Given the description of an element on the screen output the (x, y) to click on. 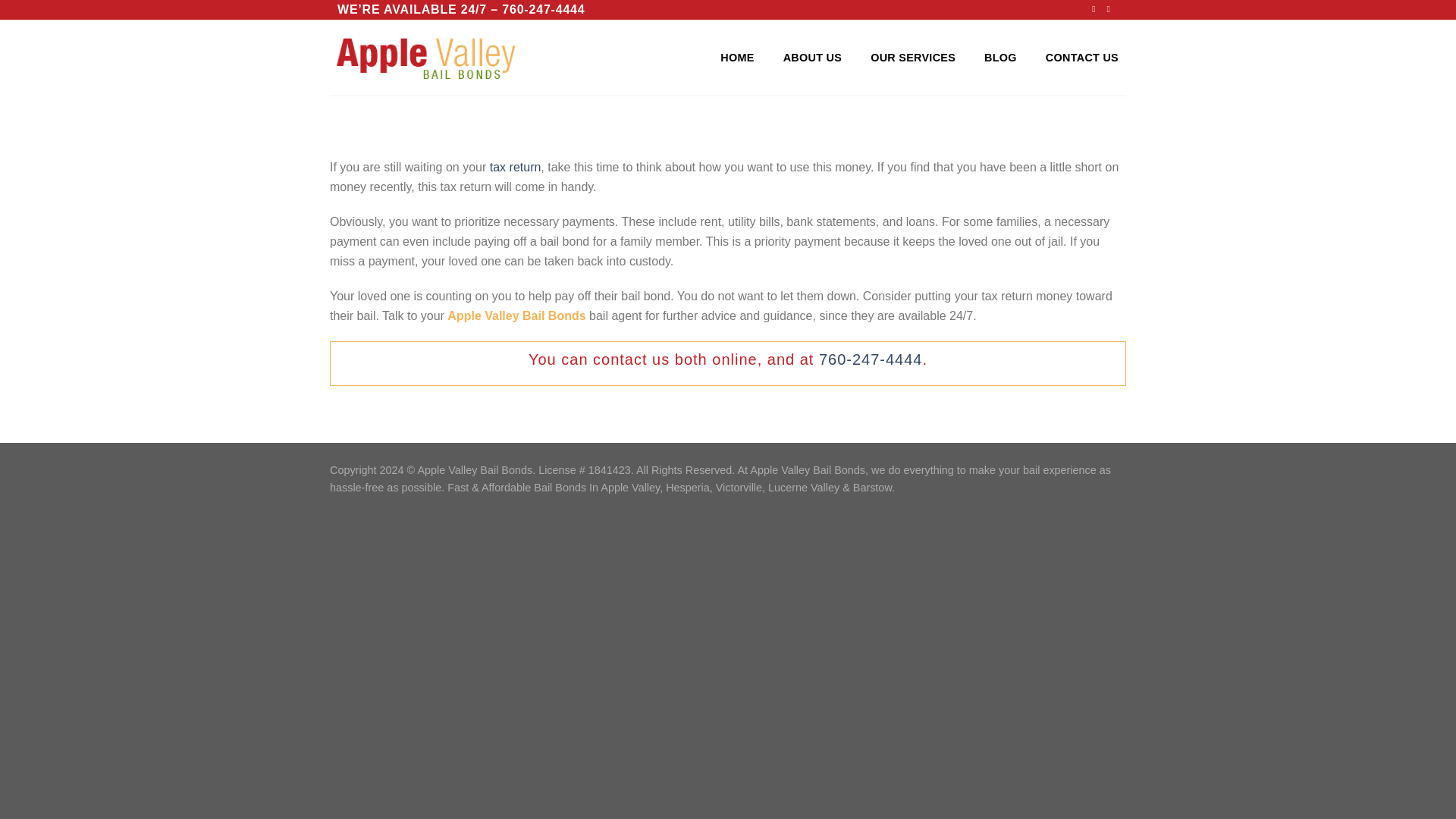
760-247-4444 (543, 9)
CONTACT US (1081, 57)
Apple Valley Bail Bonds (870, 359)
tax return (515, 166)
Apple Valley Bail Bonds - 24 Hour Bail Bonds (428, 57)
OUR SERVICES (912, 57)
760-247-4444 (870, 359)
HOME (737, 57)
BLOG (1000, 57)
ABOUT US (812, 57)
